Given the description of an element on the screen output the (x, y) to click on. 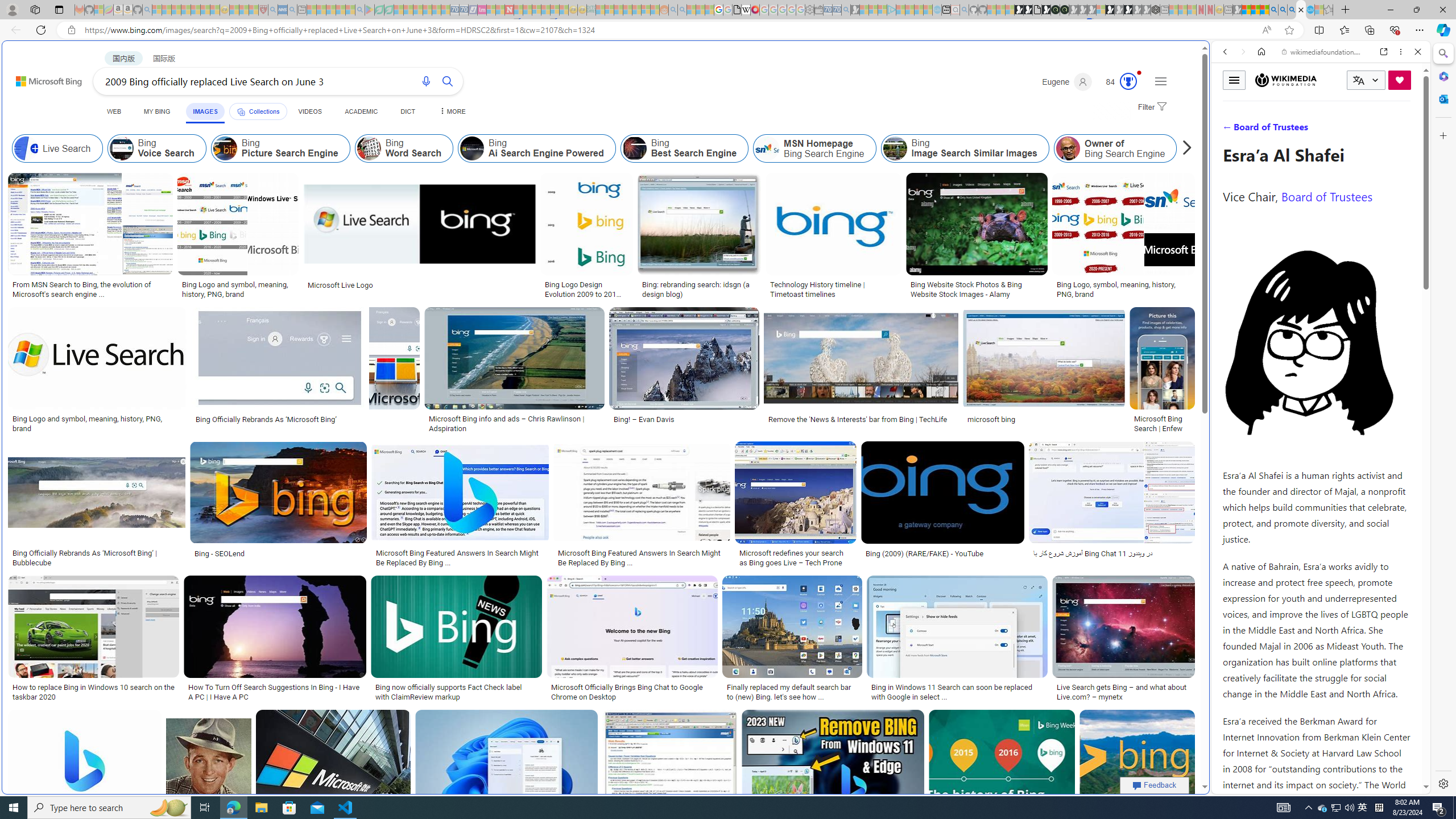
Live Search (57, 148)
Forward (1242, 51)
